Given the description of an element on the screen output the (x, y) to click on. 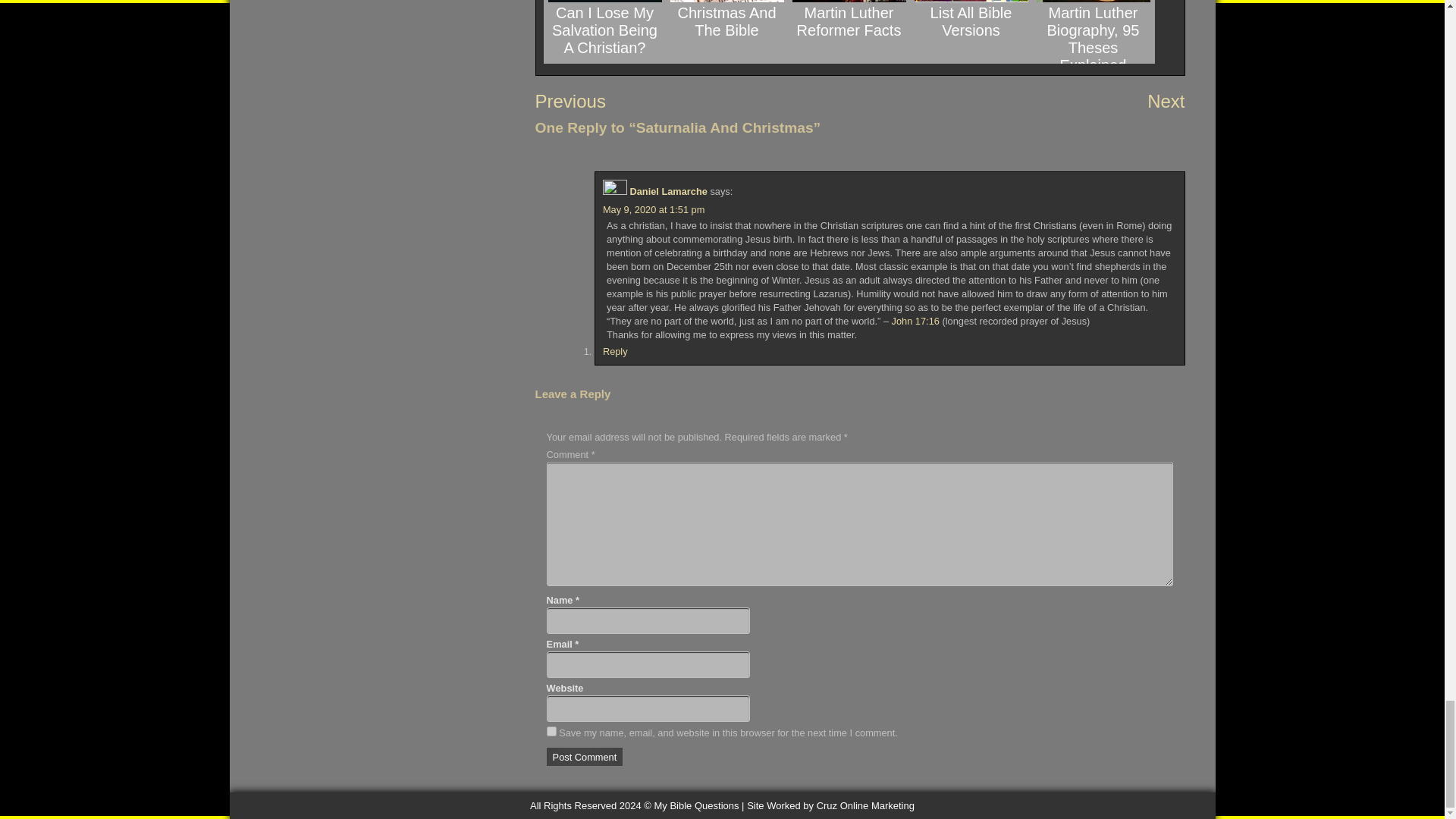
yes (551, 731)
Post Comment (585, 756)
Cruz Online Marketing (830, 805)
